Given the description of an element on the screen output the (x, y) to click on. 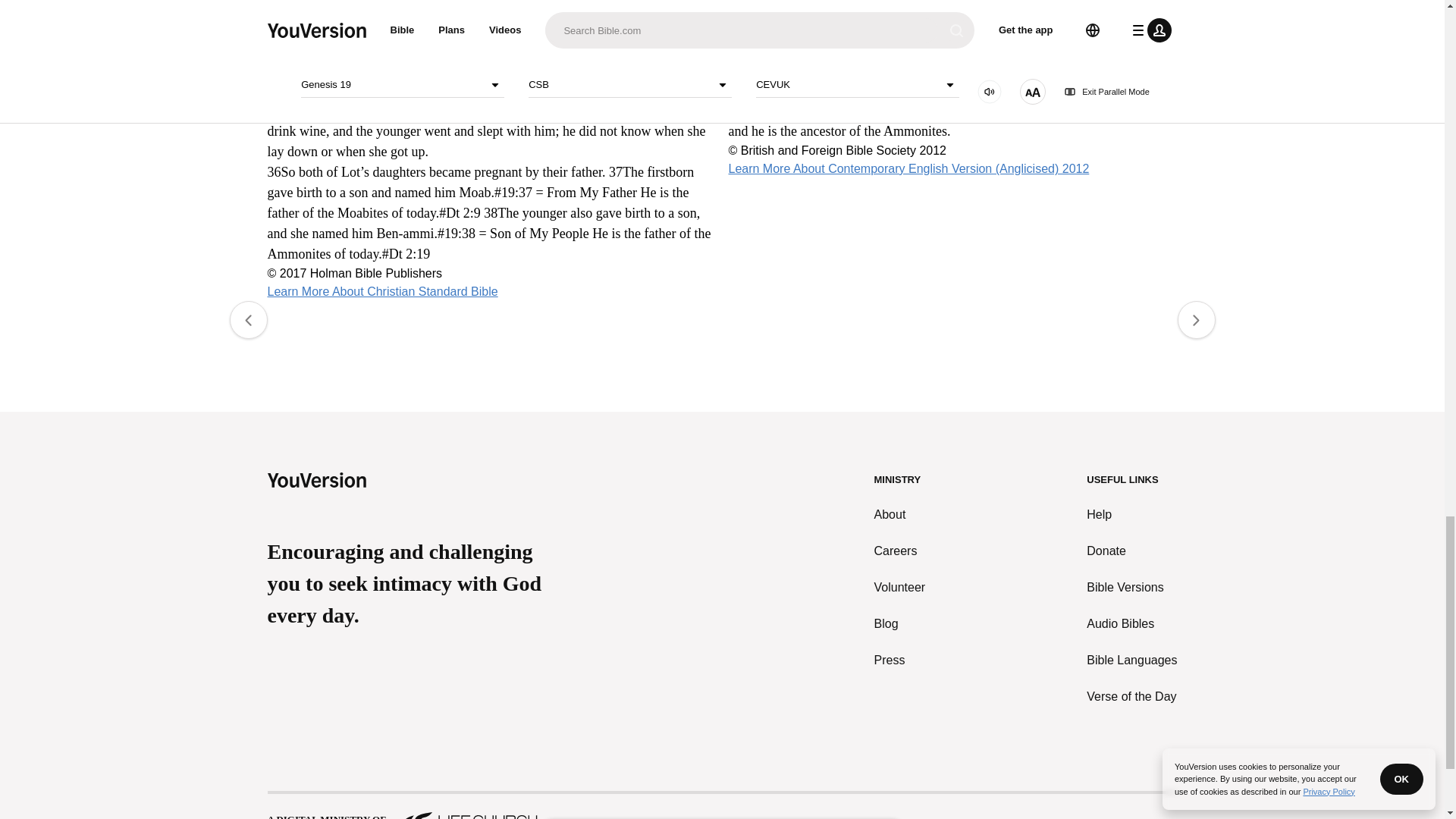
Learn More About Christian Standard Bible (381, 291)
Audio Bibles (1131, 623)
Bible Versions (1131, 587)
Help (1131, 514)
Donate (1131, 550)
Verse of the Day (1131, 696)
Press (900, 659)
About (900, 514)
Bible Languages (1131, 659)
Volunteer (900, 587)
Careers (900, 550)
A DIGITAL MINISTRY OF (721, 806)
Blog (900, 623)
